Given the description of an element on the screen output the (x, y) to click on. 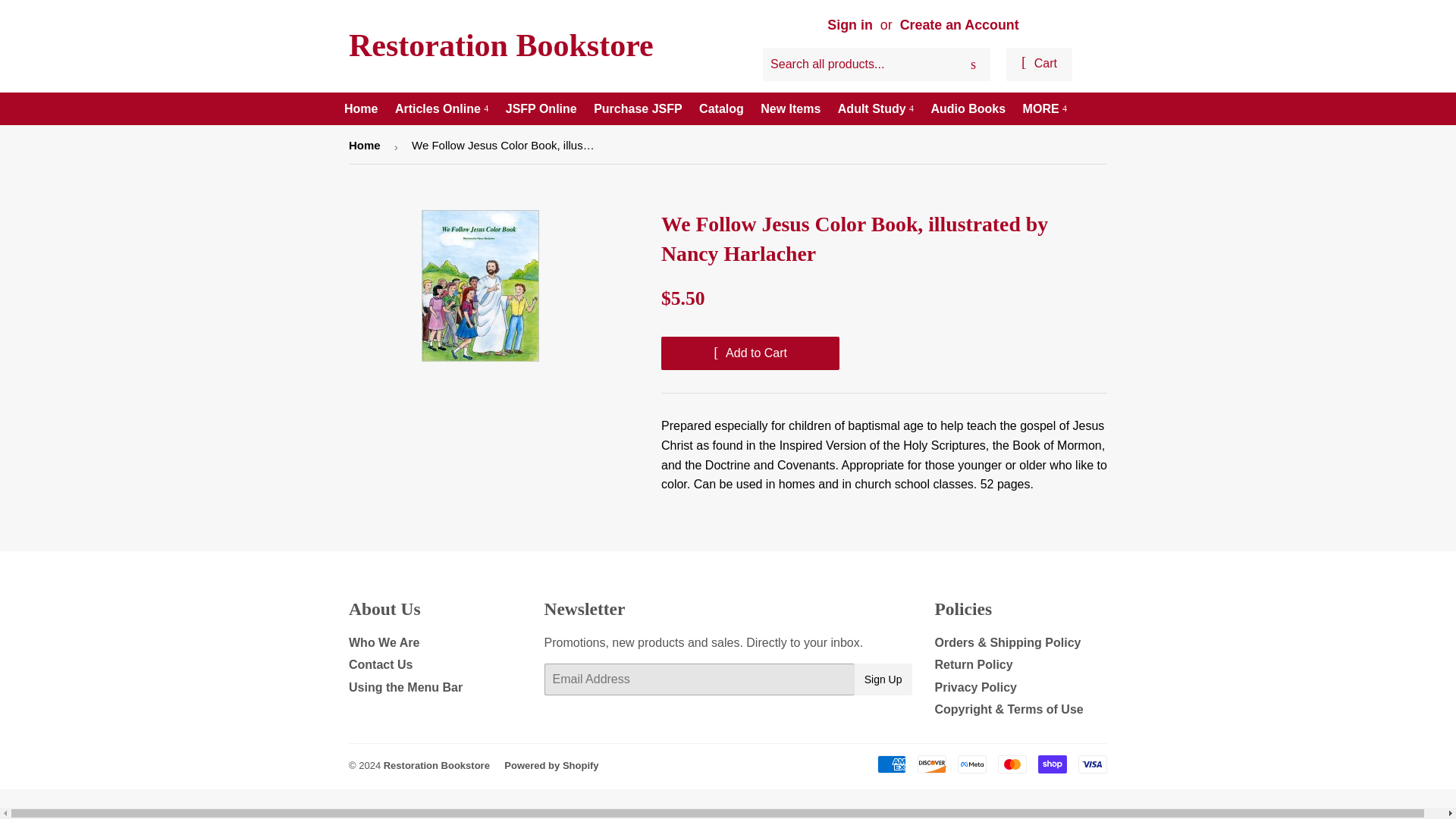
Back to the frontpage (367, 145)
Sign in (849, 24)
Restoration Bookstore (538, 45)
Discover (931, 764)
Cart (1038, 64)
Create an Account (959, 24)
Shop Pay (1052, 764)
Meta Pay (972, 764)
Search (973, 65)
American Express (891, 764)
